Given the description of an element on the screen output the (x, y) to click on. 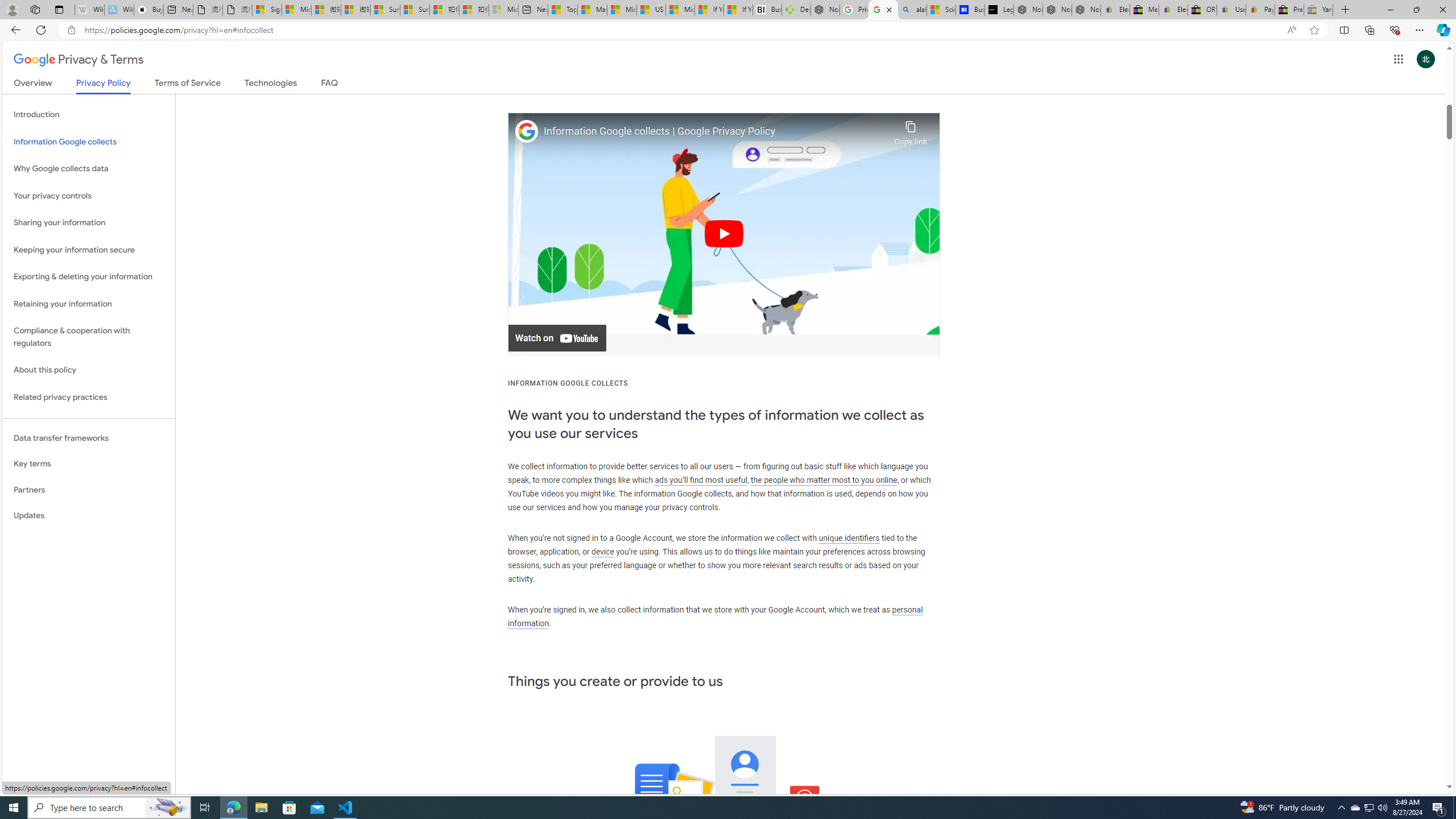
User Privacy Notice | eBay (1230, 9)
Wikipedia - Sleeping (89, 9)
Press Room - eBay Inc. (1288, 9)
